Given the description of an element on the screen output the (x, y) to click on. 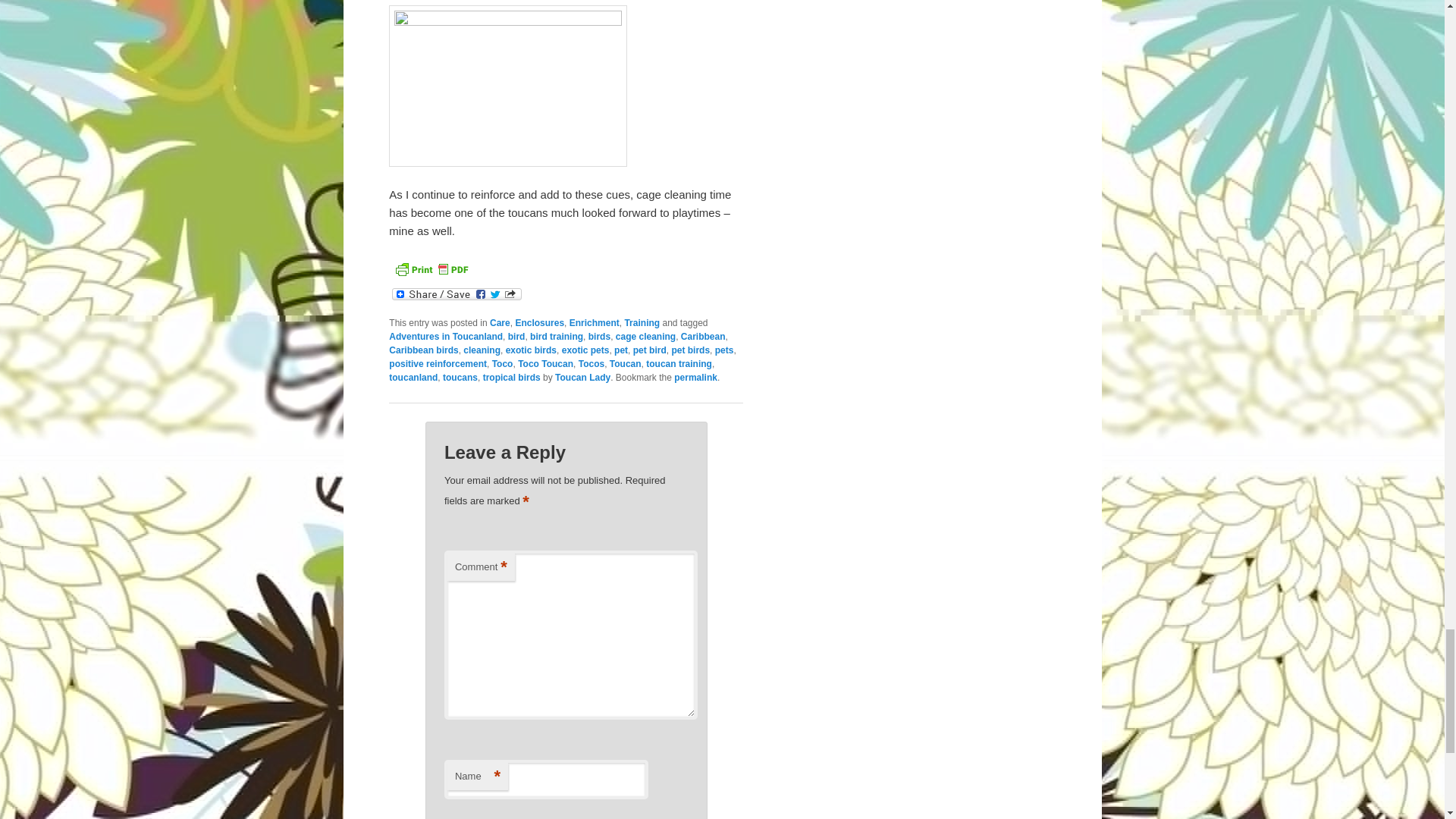
Adventures in Toucanland (445, 335)
Caribbean (703, 335)
exotic pets (586, 348)
Care (500, 321)
Enclosures (539, 321)
exotic birds (530, 348)
Training (641, 321)
bird training (556, 335)
Caribbean birds (423, 348)
cleaning (481, 348)
